Given the description of an element on the screen output the (x, y) to click on. 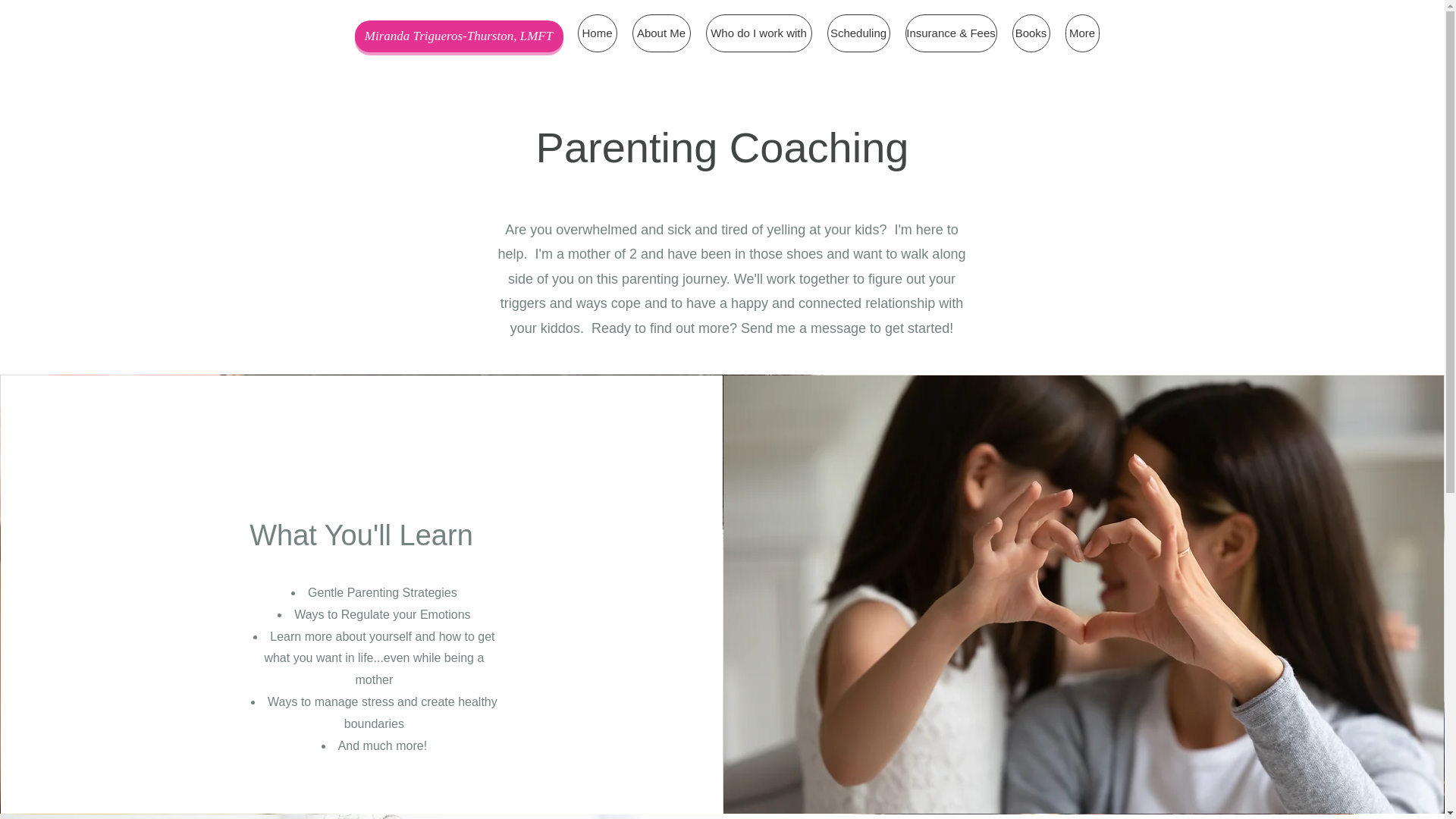
Who do I work with (757, 33)
Home (597, 33)
Scheduling (858, 33)
About Me (660, 33)
Miranda Trigueros-Thurston, LMFT (459, 36)
Books (1030, 33)
